Given the description of an element on the screen output the (x, y) to click on. 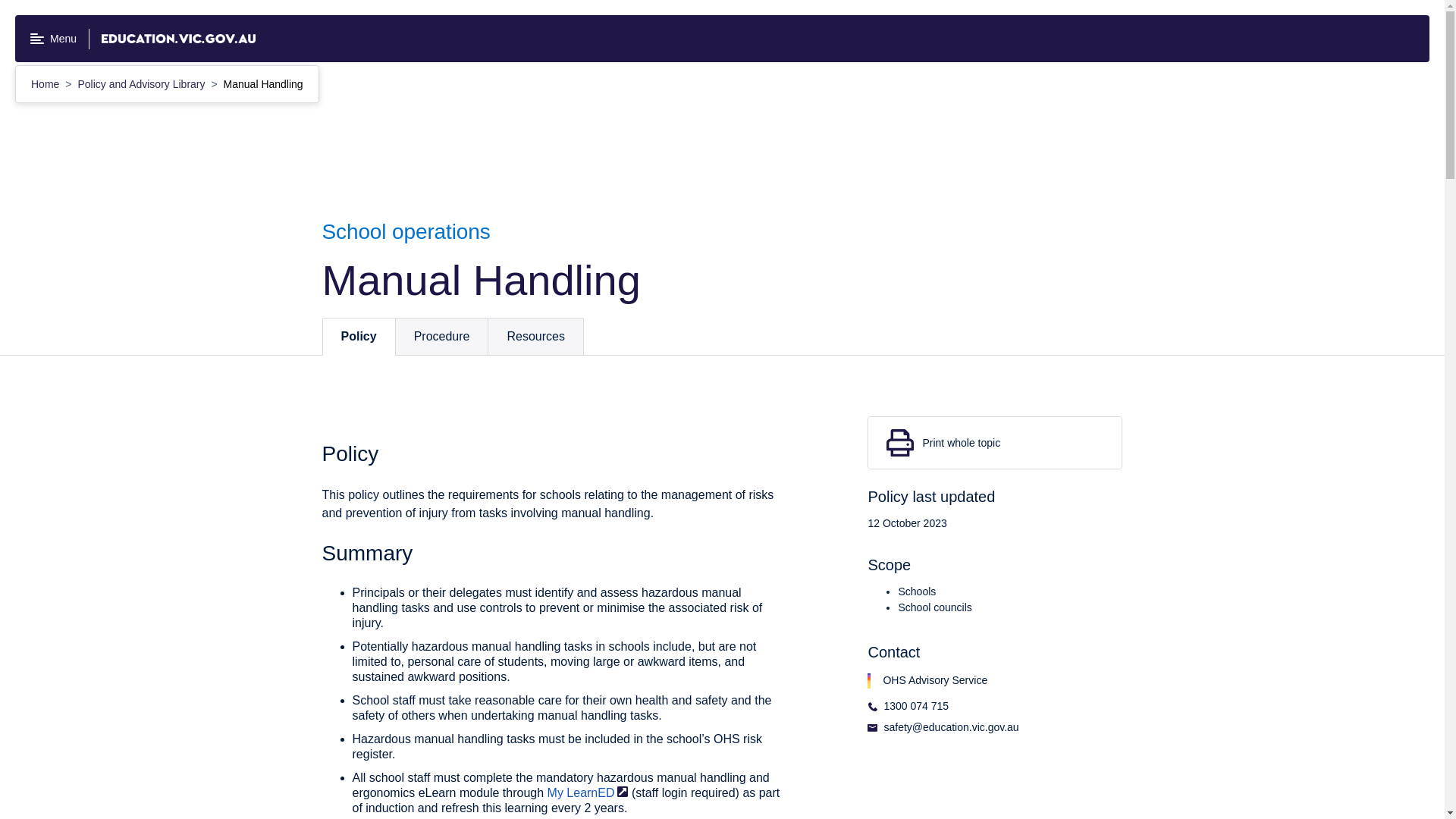
Menu (53, 38)
Policy and Advisory Library (142, 83)
External Link (622, 790)
My LearnEDExternal Link (587, 791)
Policy (358, 336)
Procedure (441, 336)
Home (46, 83)
1300 074 715 (950, 711)
Resources (534, 336)
Print whole topic (994, 442)
